Given the description of an element on the screen output the (x, y) to click on. 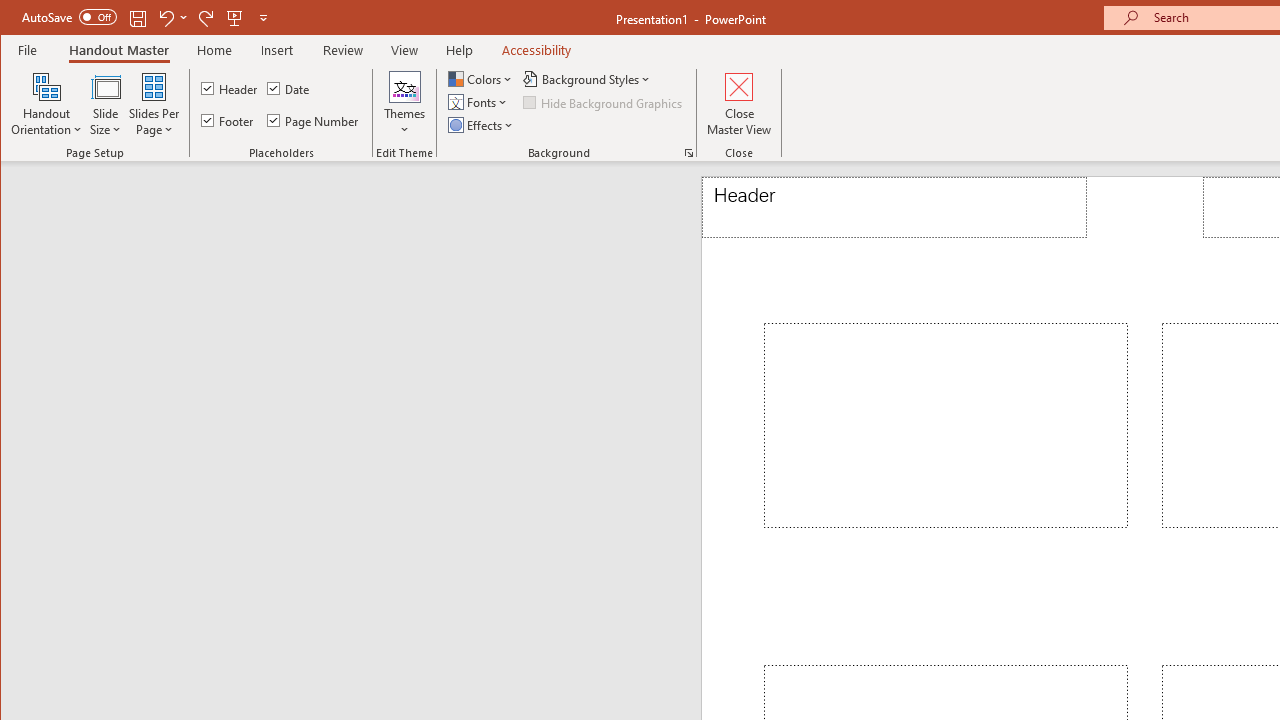
Header (893, 207)
Header (230, 88)
Effects (482, 124)
Colors (481, 78)
Format Background... (688, 152)
Page Number (313, 119)
Slide Size (105, 104)
Footer (228, 119)
Themes (404, 104)
Background Styles (587, 78)
